Given the description of an element on the screen output the (x, y) to click on. 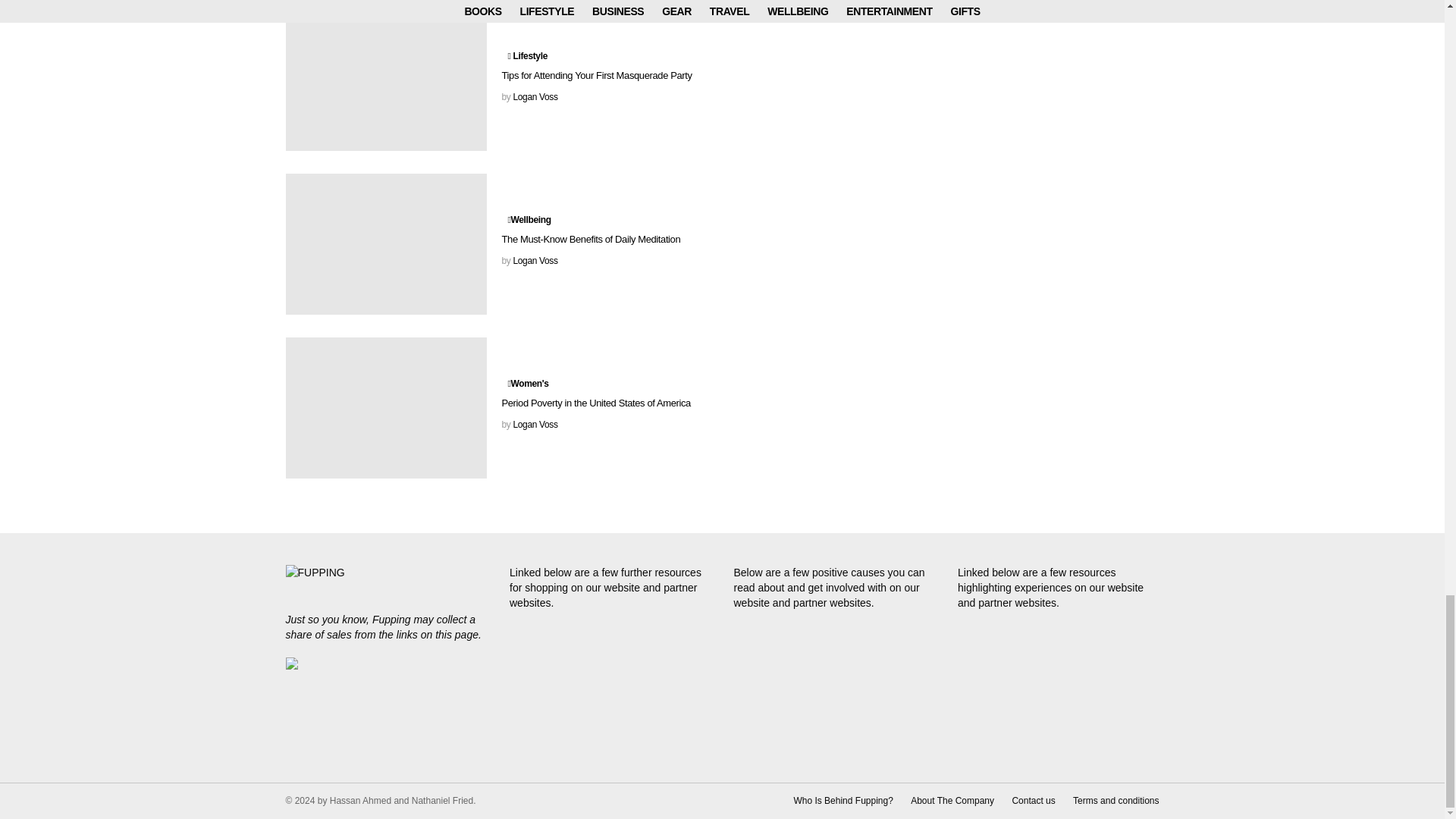
Period Poverty in the United States of America (385, 407)
Tips for Attending Your First Masquerade Party (385, 79)
Posts by Logan Voss (534, 96)
Posts by Logan Voss (534, 424)
The Must-Know Benefits of Daily Meditation (385, 243)
Posts by Logan Voss (534, 260)
